Given the description of an element on the screen output the (x, y) to click on. 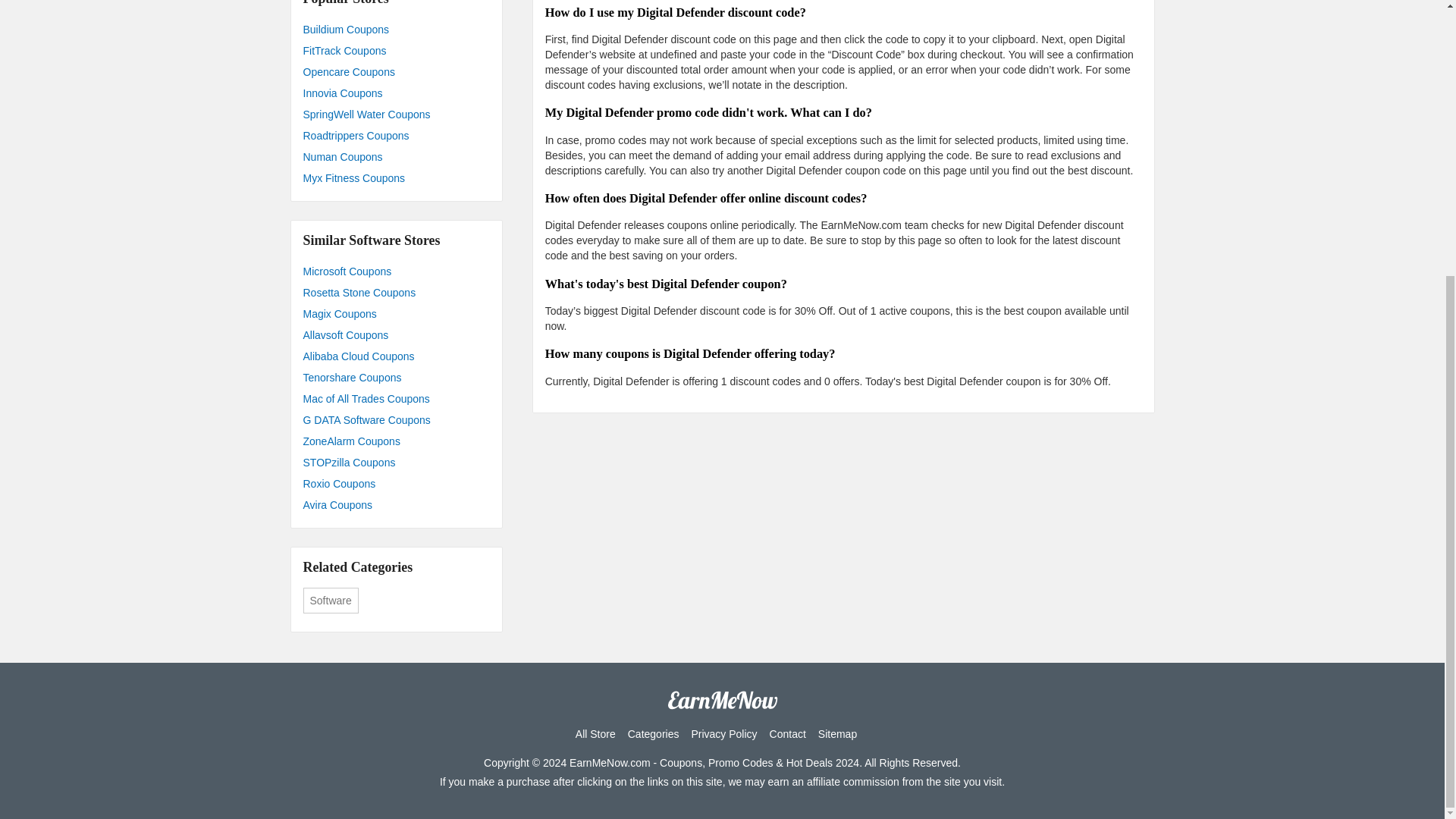
G DATA Software Coupons (395, 419)
Alibaba Cloud Coupons (395, 355)
Allavsoft Coupons (395, 334)
Privacy Policy (723, 734)
Sitemap (837, 734)
Contact (788, 734)
Tenorshare Coupons (395, 377)
Myx Fitness Coupons (395, 178)
Roadtrippers Coupons (395, 135)
SpringWell Water Coupons (395, 114)
Rosetta Stone Coupons (395, 292)
Microsoft Coupons (395, 271)
Mac of All Trades Coupons (395, 398)
All Store (595, 734)
FitTrack Coupons (395, 50)
